Given the description of an element on the screen output the (x, y) to click on. 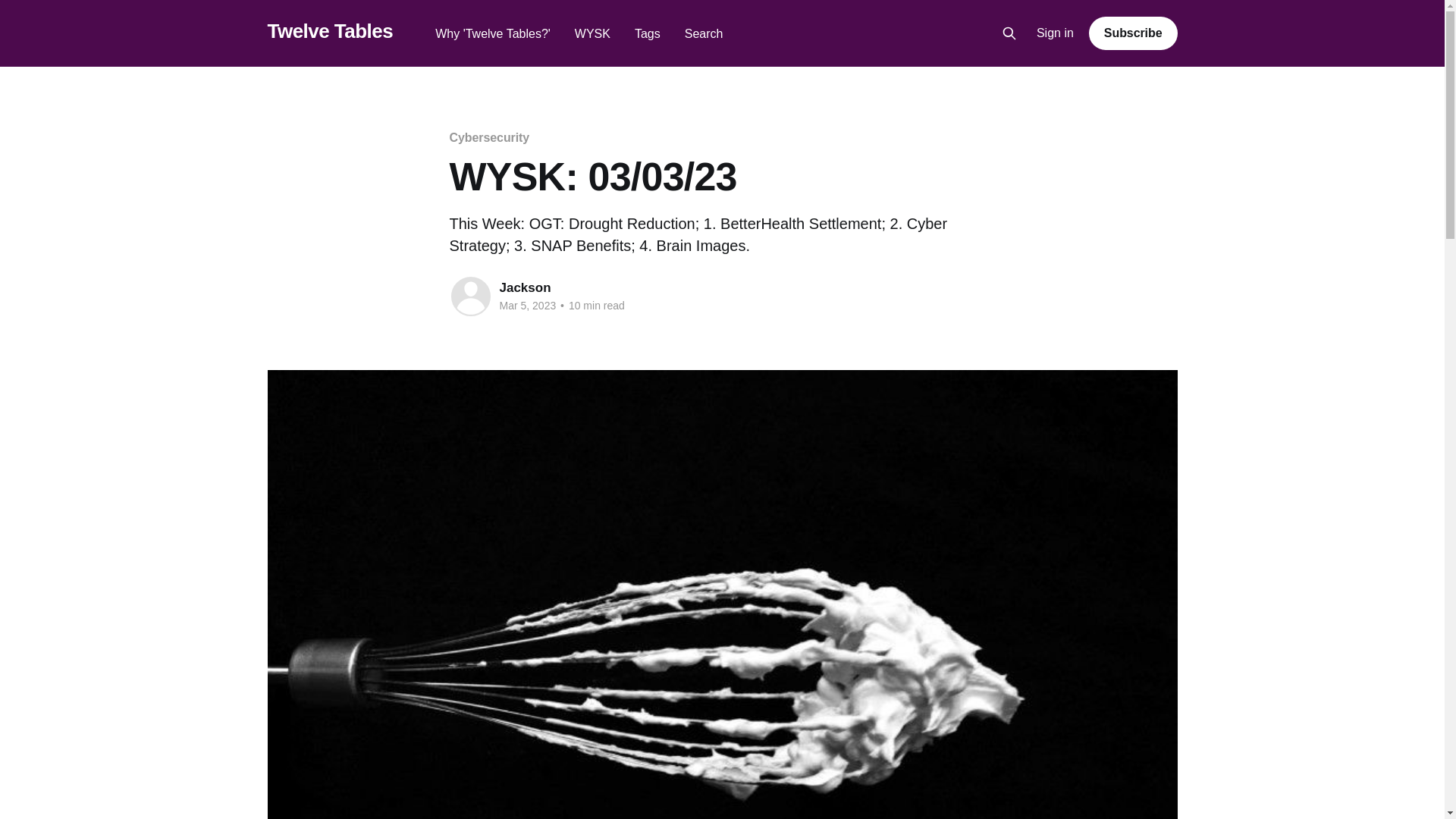
Search (703, 33)
Tags (647, 33)
Subscribe (1133, 32)
Jackson (524, 287)
Twelve Tables (329, 31)
WYSK (592, 33)
Sign in (1055, 33)
Cybersecurity (488, 137)
Why 'Twelve Tables?' (492, 33)
